Given the description of an element on the screen output the (x, y) to click on. 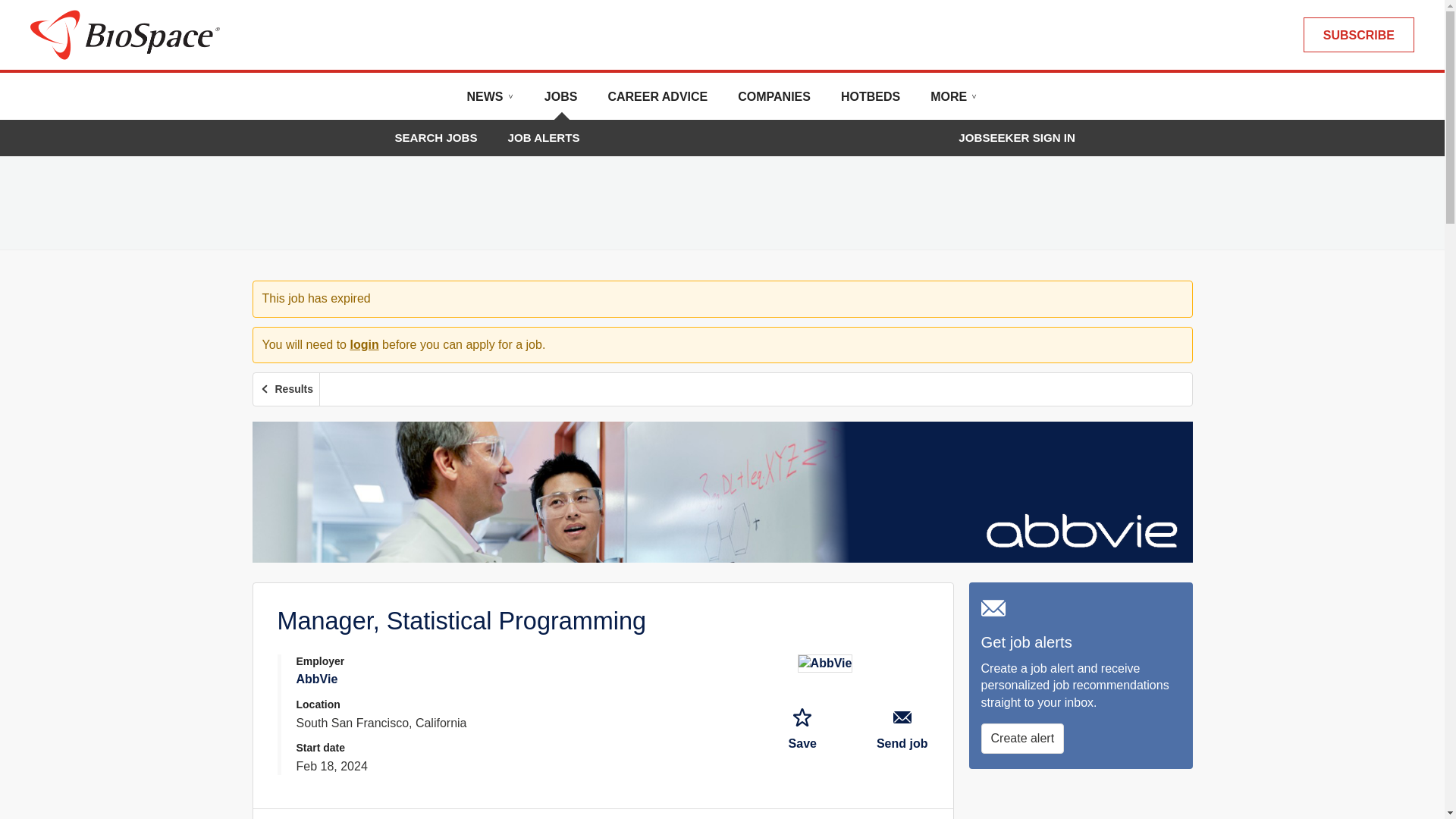
CAREER ADVICE (657, 102)
COMPANIES (774, 102)
JOBS (561, 102)
JOB ALERTS (543, 137)
SUBSCRIBE (1358, 34)
BioSpace (124, 34)
MORE (953, 102)
JOBSEEKER SIGN IN (1016, 137)
NEWS (490, 102)
SEARCH JOBS (435, 137)
